Given the description of an element on the screen output the (x, y) to click on. 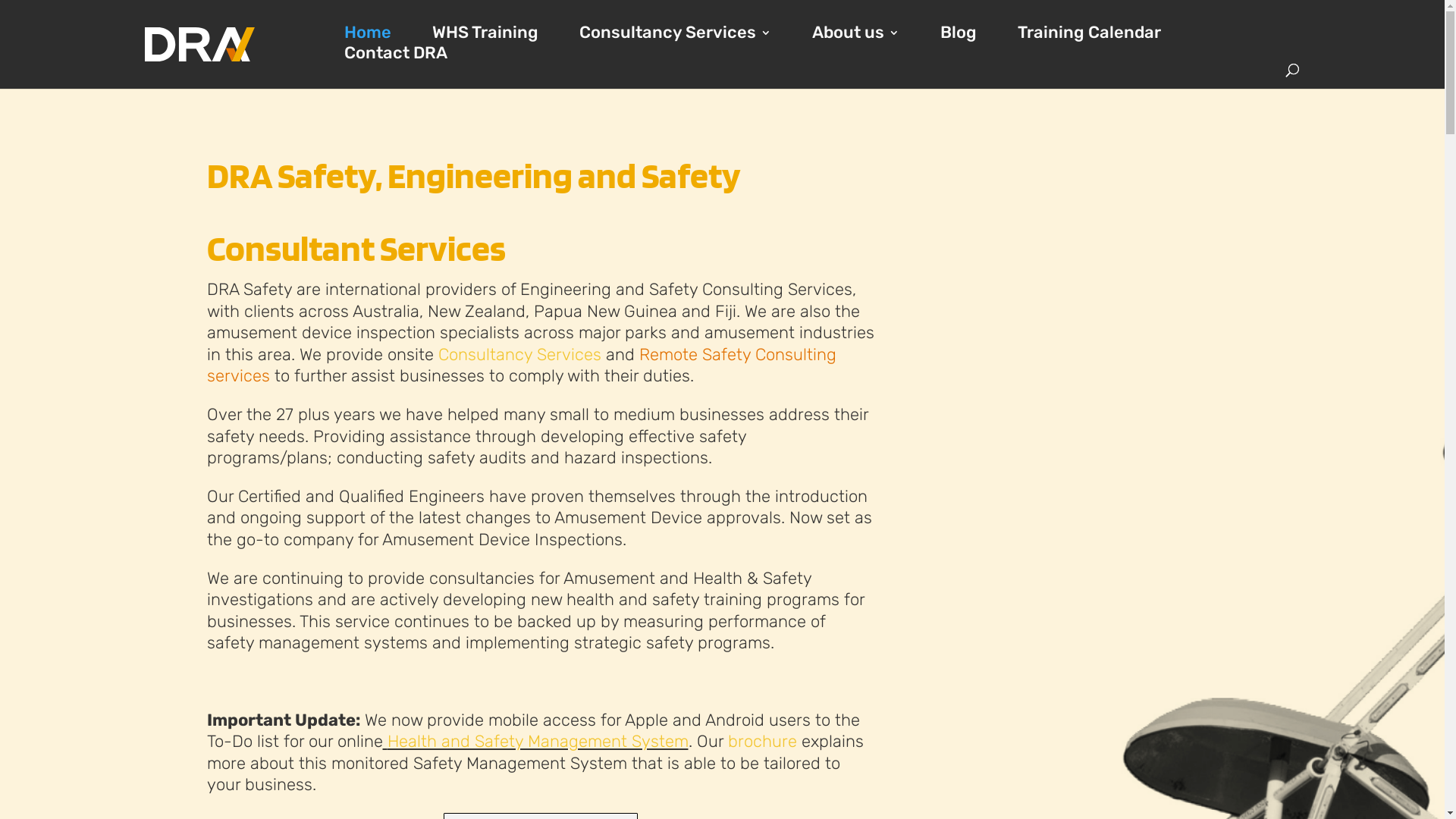
Health and Safety Management System Element type: text (536, 741)
Consultancy Services Element type: text (519, 354)
Consultancy Services Element type: text (675, 32)
Remote Safety Consulting services Element type: text (520, 365)
Home Element type: text (367, 32)
Contact DRA Element type: text (395, 53)
About us Element type: text (855, 32)
Training Calendar Element type: text (1089, 32)
WHS Training Element type: text (485, 32)
Blog Element type: text (958, 32)
brochure Element type: text (762, 741)
